Given the description of an element on the screen output the (x, y) to click on. 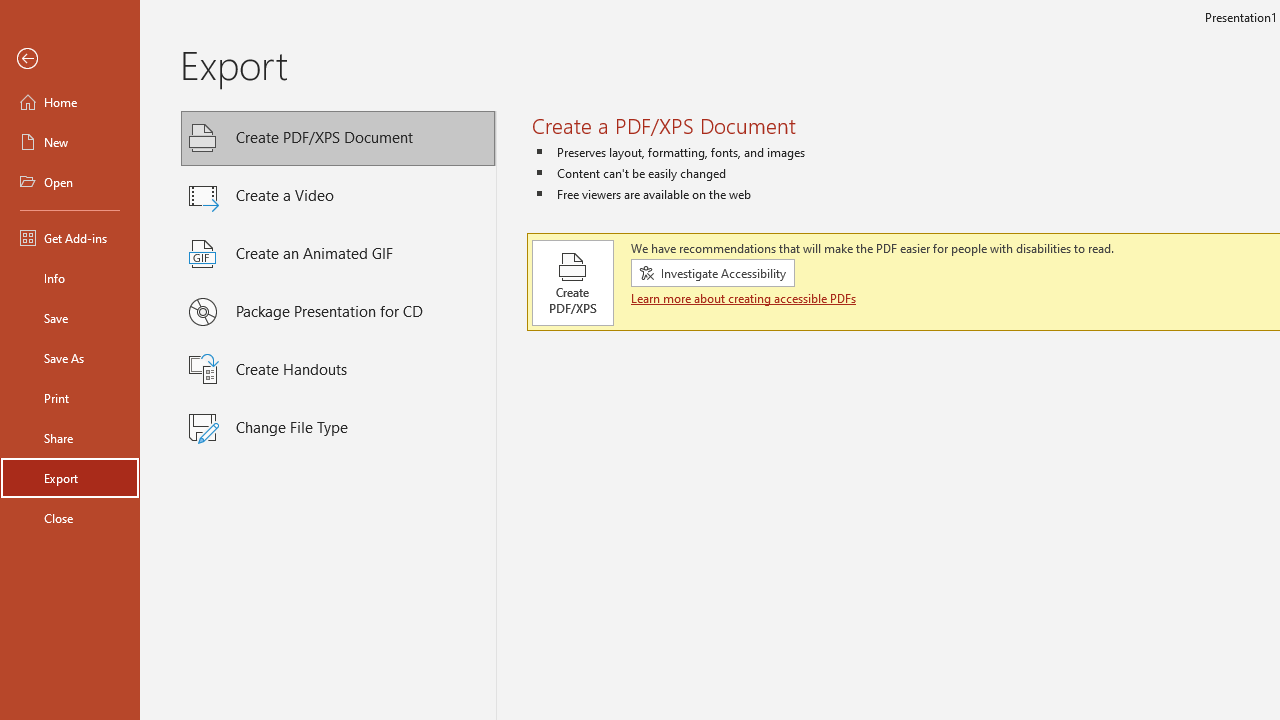
Investigate Accessibility (712, 273)
Create PDF/XPS (573, 282)
Back (69, 59)
Create an Animated GIF (338, 254)
New (69, 141)
Create Handouts (338, 370)
Create a Video (338, 196)
Save As (69, 357)
Info (69, 277)
Learn more about creating accessible PDFs (745, 298)
Get Add-ins (69, 237)
